Given the description of an element on the screen output the (x, y) to click on. 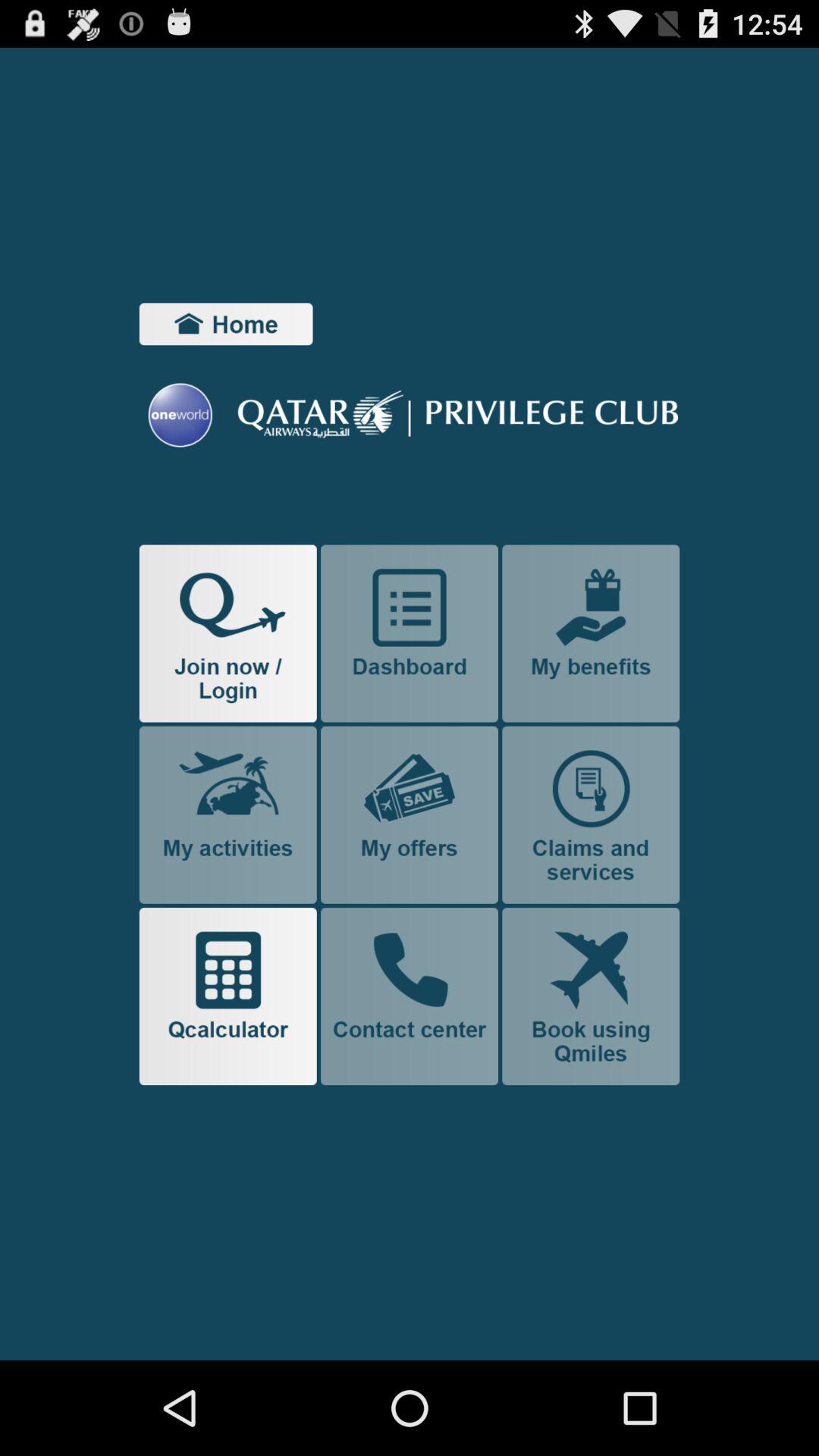
open item at the bottom (409, 996)
